Given the description of an element on the screen output the (x, y) to click on. 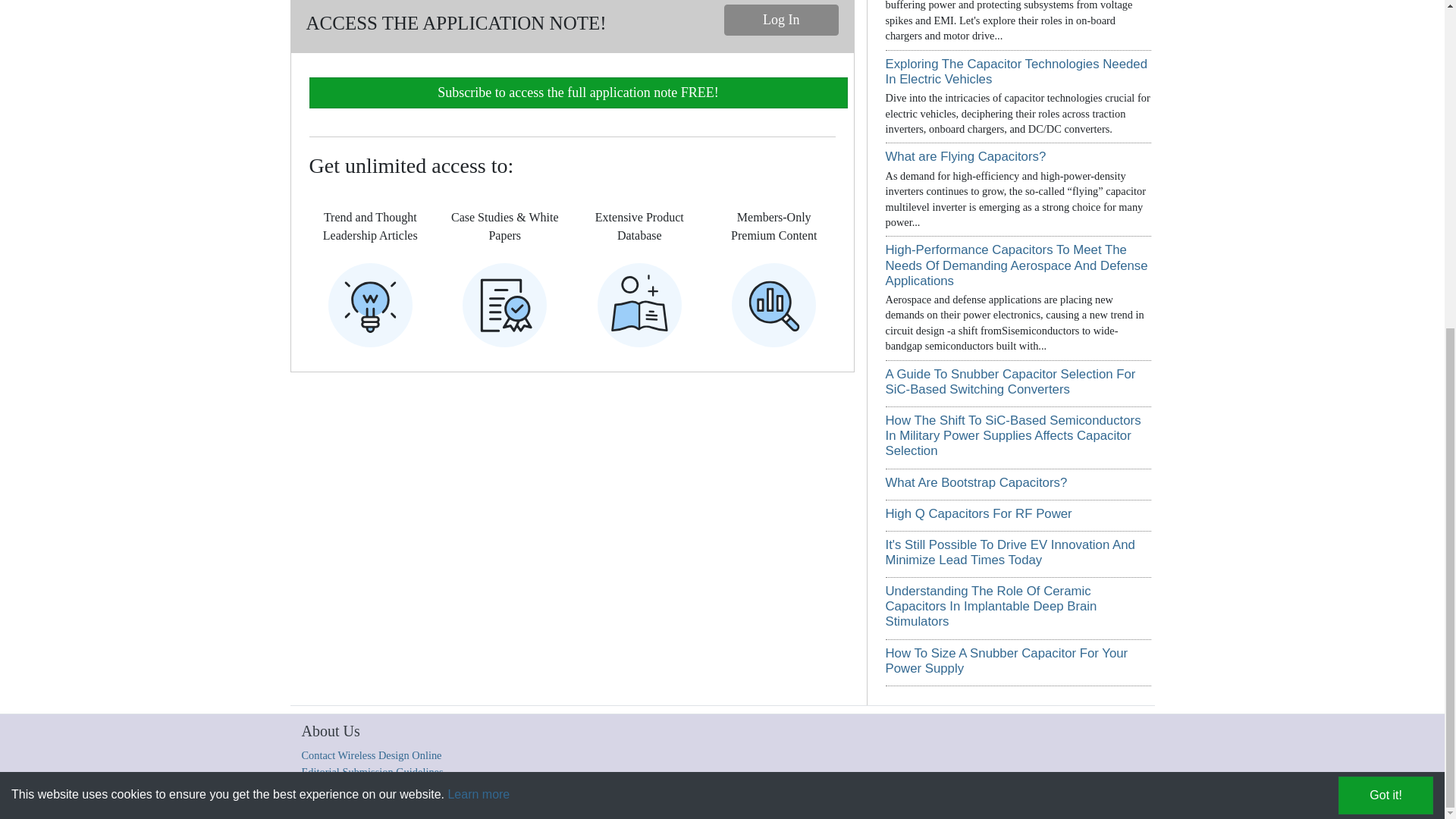
What are Flying Capacitors? (965, 156)
Log In (780, 20)
Subscribe to access the full application note FREE! (577, 92)
